Given the description of an element on the screen output the (x, y) to click on. 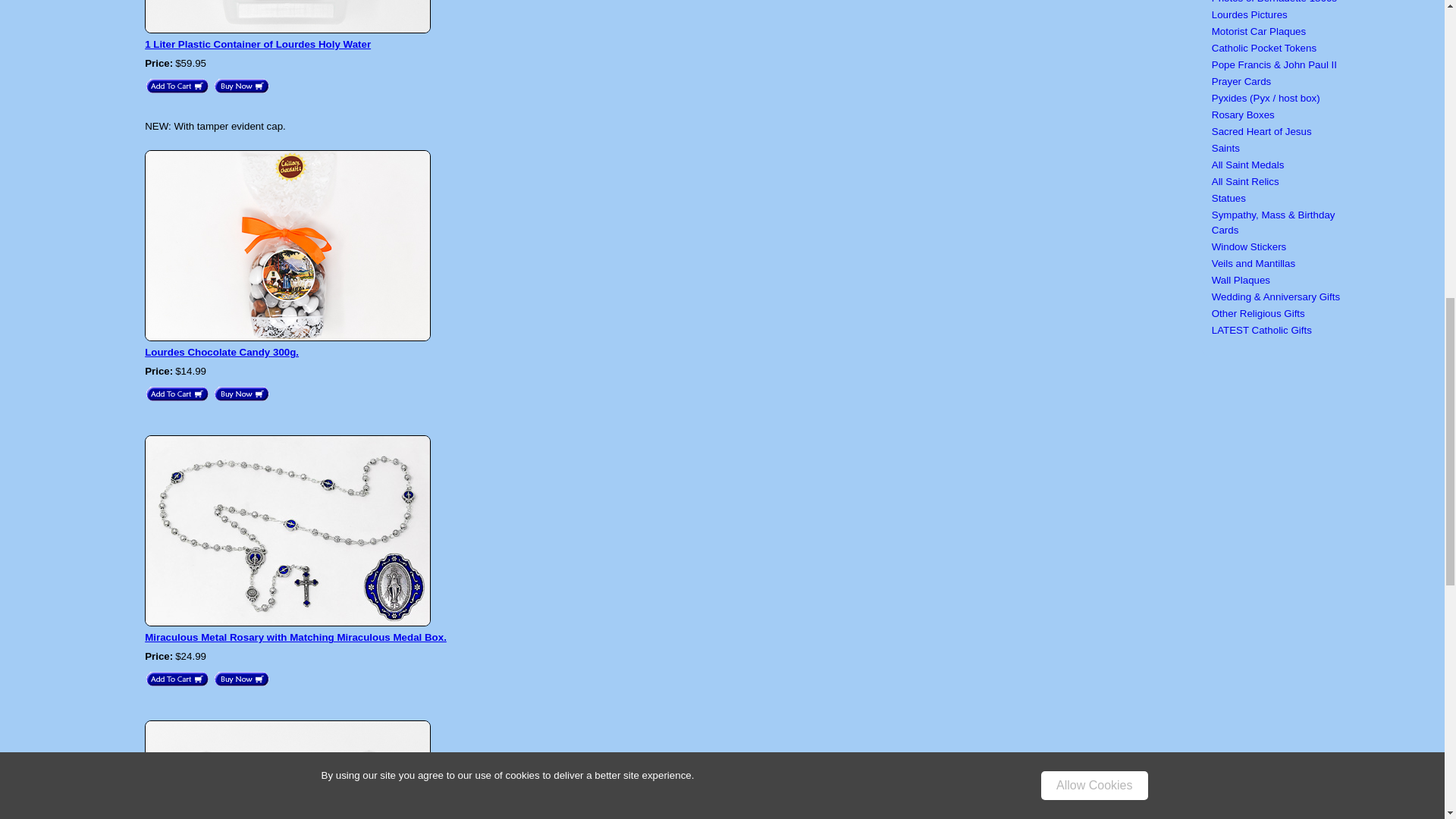
1 Liter Plastic Container of Lourdes Holy Water (257, 43)
